Given the description of an element on the screen output the (x, y) to click on. 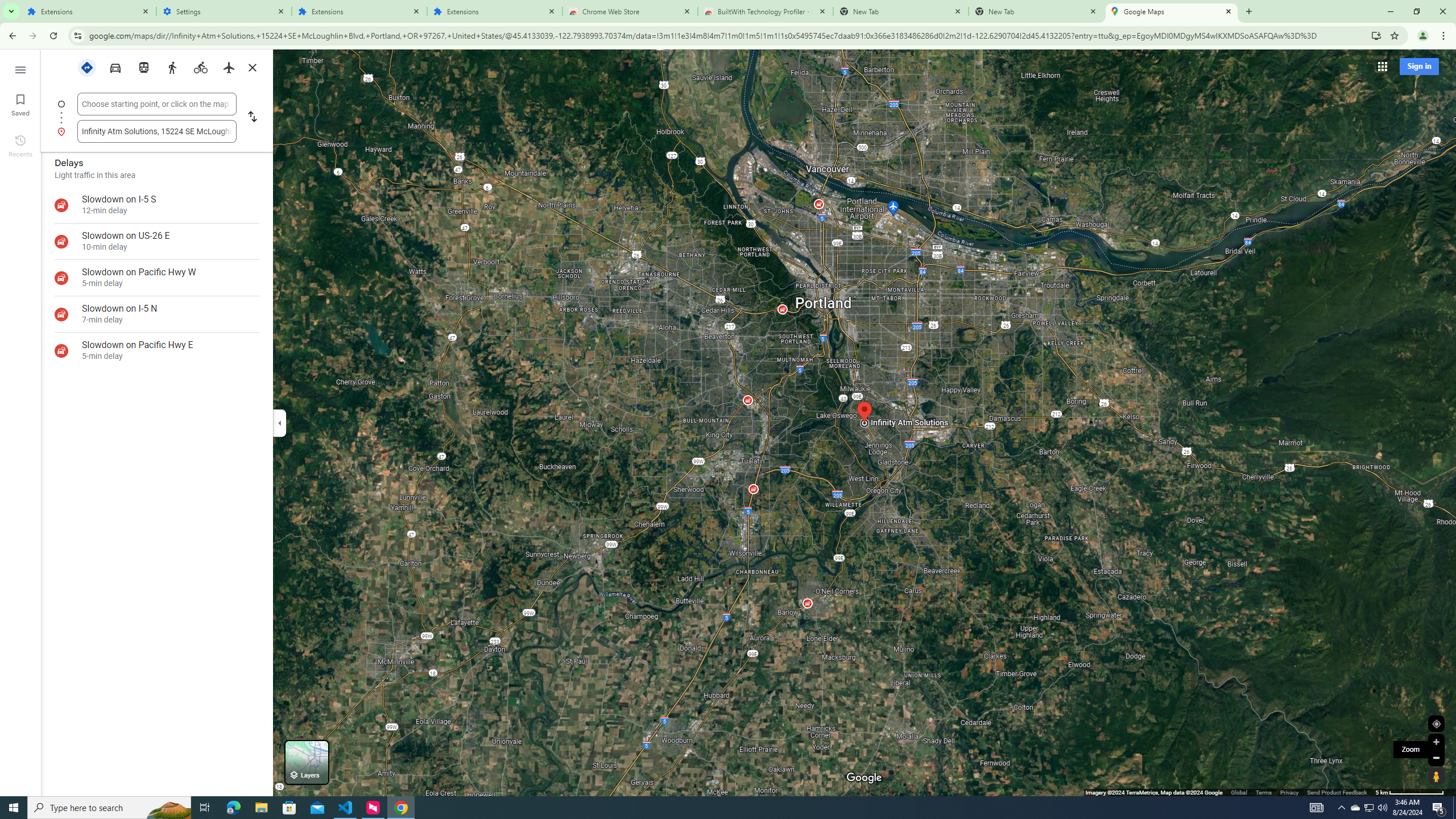
Extensions (359, 11)
Zoom in (1436, 741)
Saved (20, 104)
Send Product Feedback (1337, 792)
AutomationID: sb_ifc51 (156, 131)
